Given the description of an element on the screen output the (x, y) to click on. 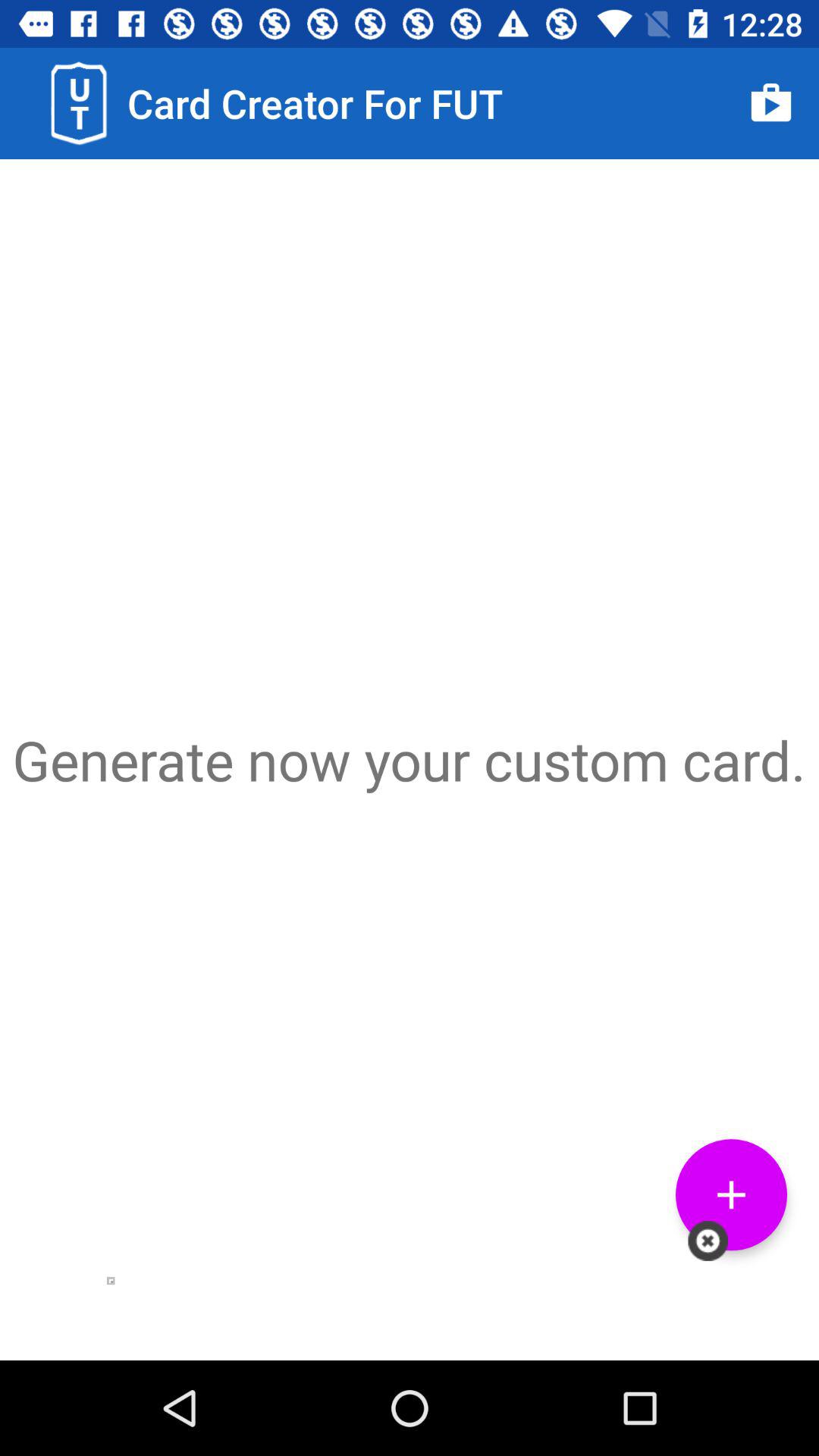
select the icon below the generate now your item (731, 1194)
